Given the description of an element on the screen output the (x, y) to click on. 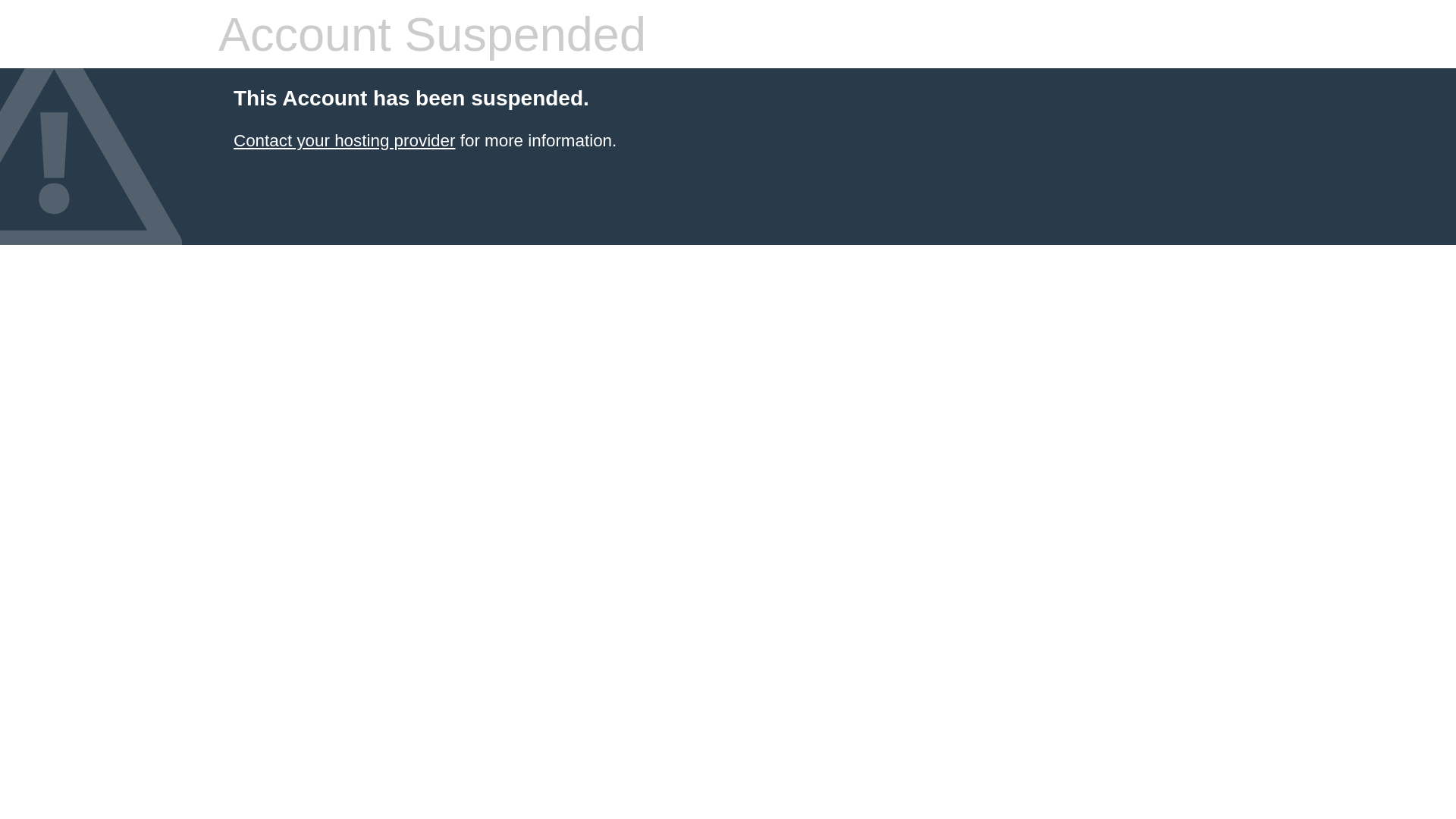
Contact your hosting provider Element type: text (344, 140)
